Given the description of an element on the screen output the (x, y) to click on. 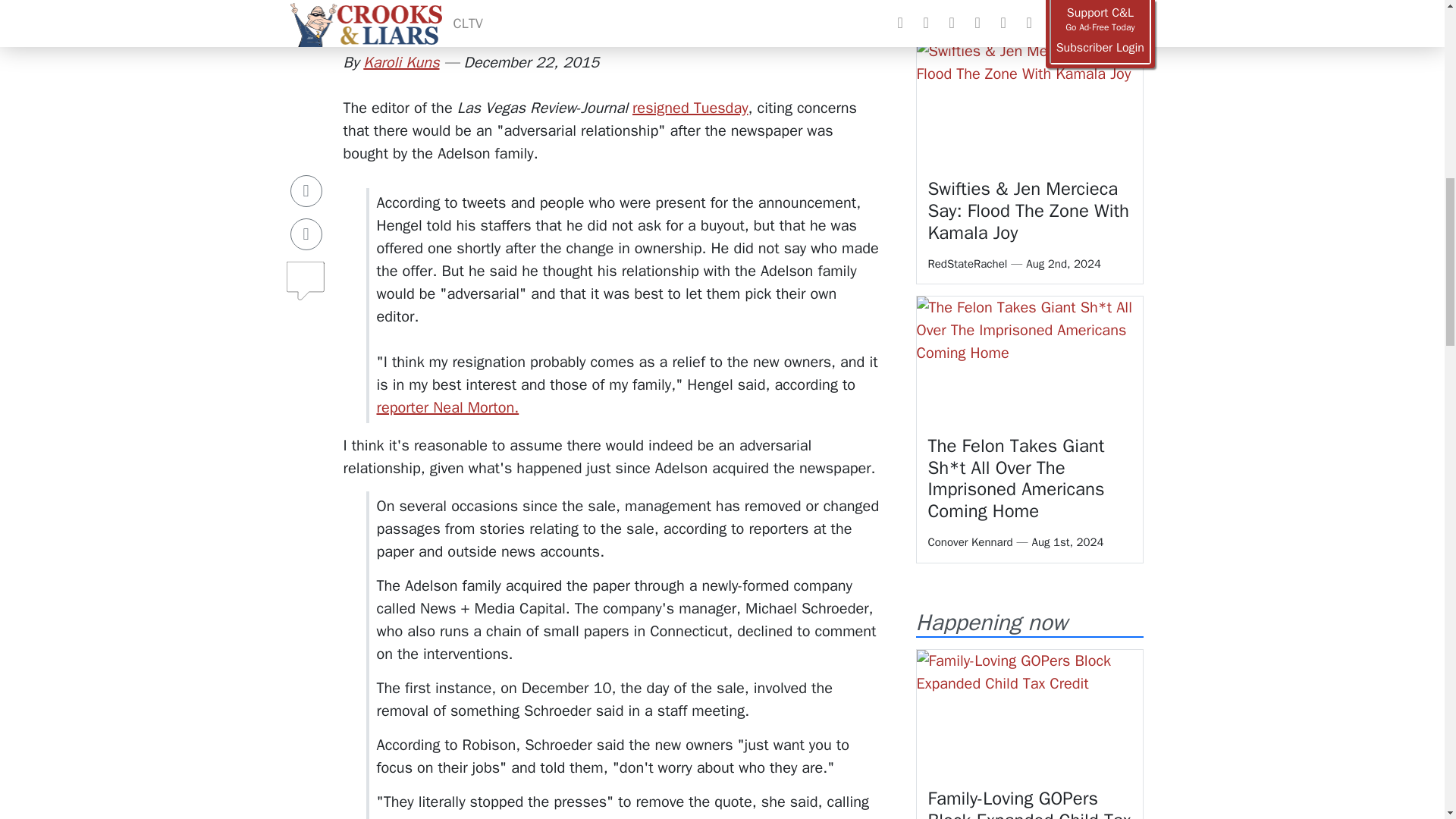
Comments (306, 173)
Karoli Kuns (400, 62)
Share on Twitter (306, 133)
reporter Neal Morton. (446, 407)
Karoli Kuns (400, 62)
resigned Tuesday (689, 107)
Share on Facebook (306, 90)
